Given the description of an element on the screen output the (x, y) to click on. 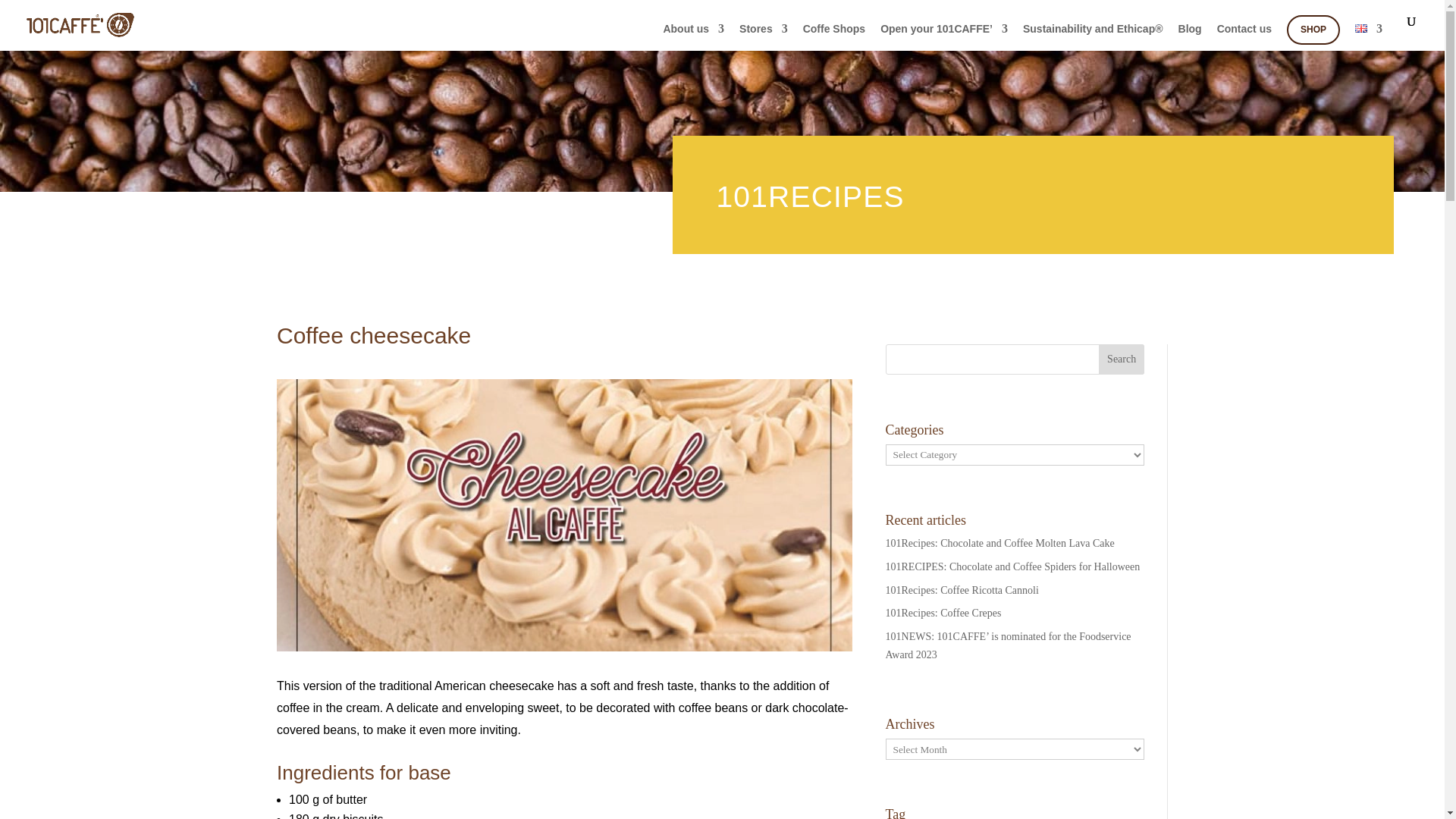
Contact us (1244, 36)
Search (1121, 358)
About us (692, 36)
SHOP (1313, 30)
Coffe Shops (833, 36)
Stores (763, 36)
